Given the description of an element on the screen output the (x, y) to click on. 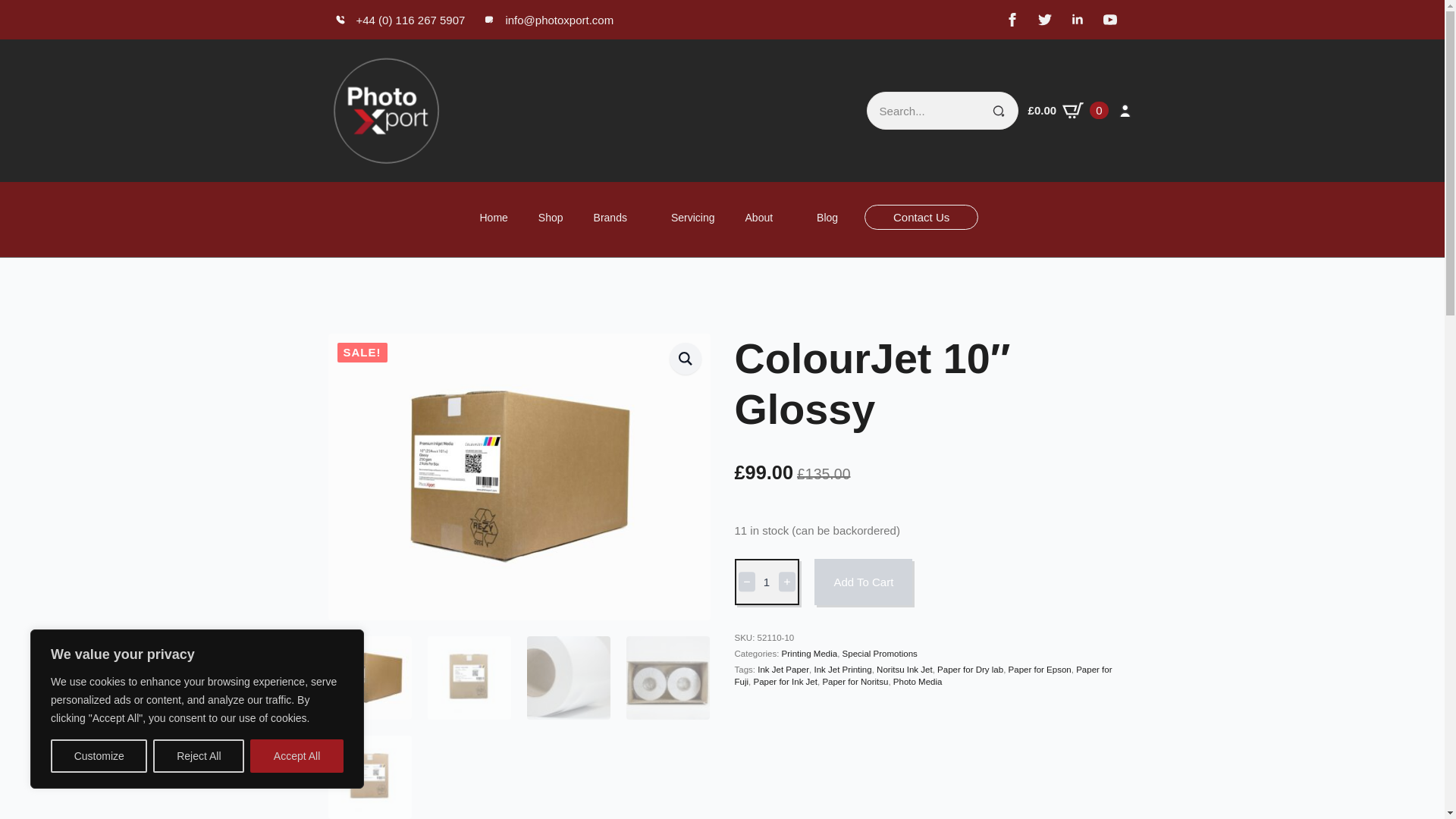
10-G-Box-Side-no-code-scaled (518, 476)
Reject All (198, 756)
1 (765, 581)
Shop (550, 217)
Brands (602, 217)
Customize (98, 756)
Home (493, 217)
Accept All (296, 756)
